Given the description of an element on the screen output the (x, y) to click on. 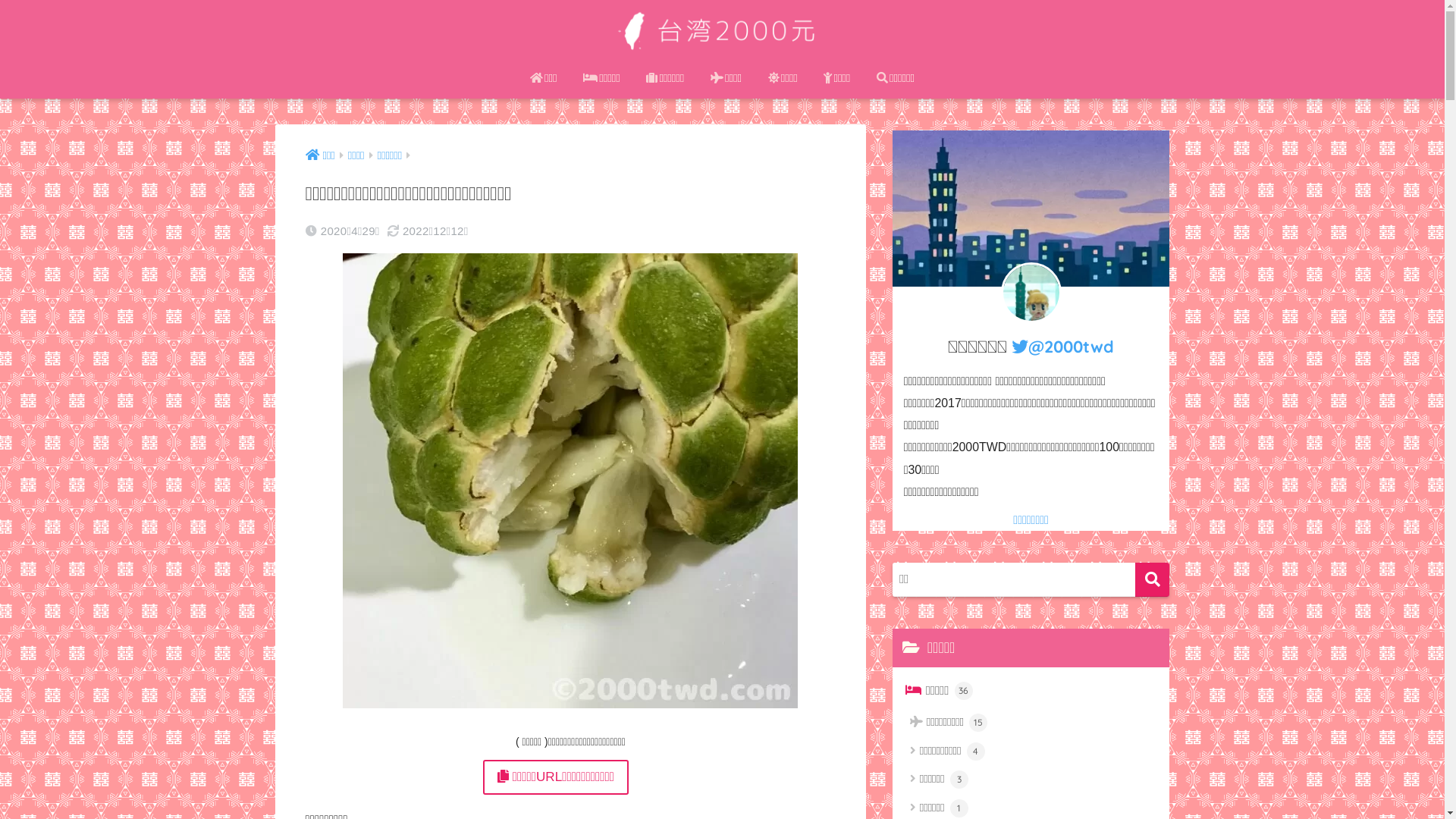
@2000twd Element type: text (1062, 345)
on Element type: text (4, 4)
